Given the description of an element on the screen output the (x, y) to click on. 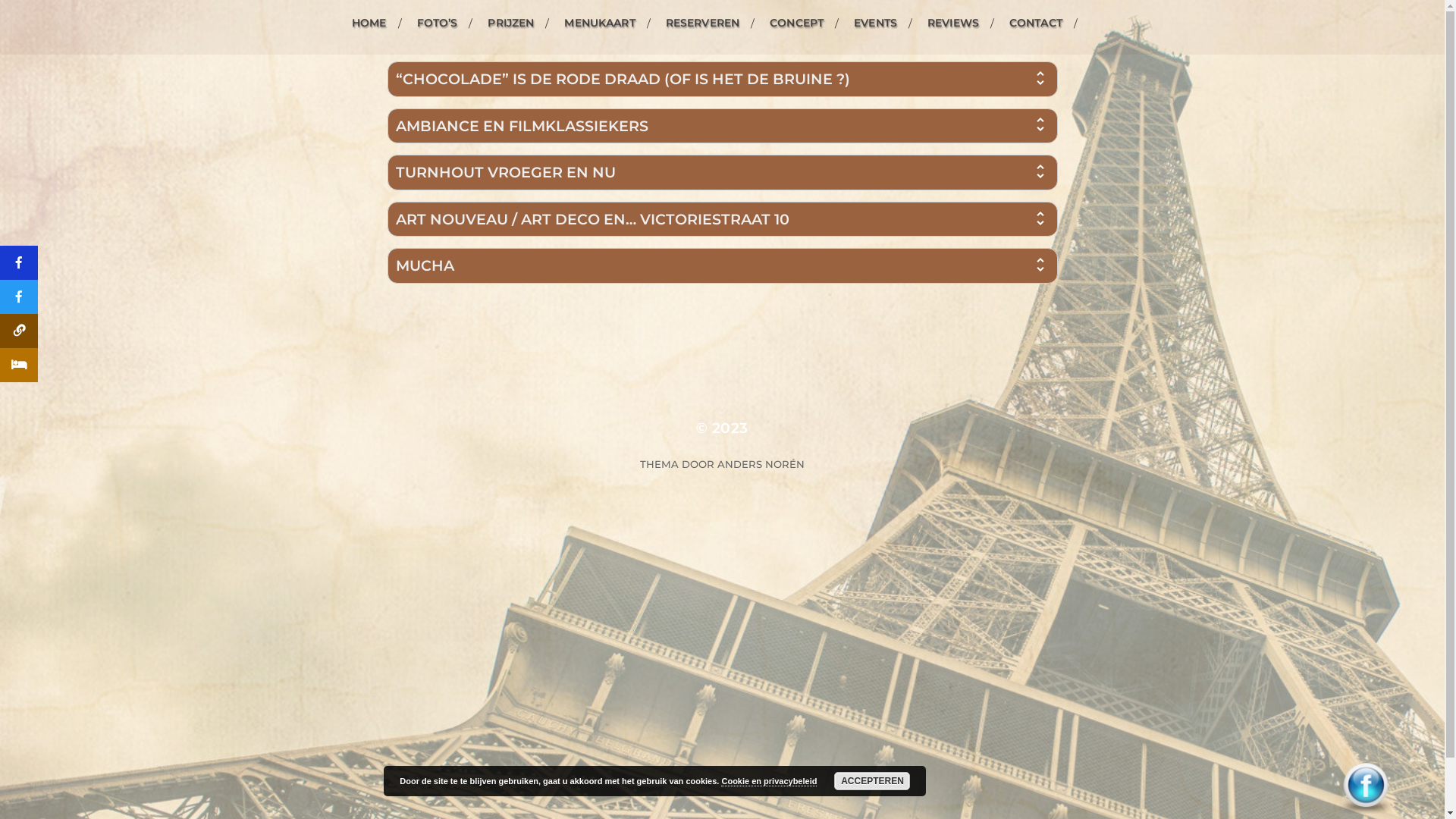
Cookie en privacybeleid Element type: text (768, 781)
MENUKAART Element type: text (599, 22)
CONTACT Element type: text (1035, 22)
RESERVEREN Element type: text (702, 22)
PRIJZEN Element type: text (510, 22)
EVENTS Element type: text (875, 22)
HOME Element type: text (368, 22)
CONCEPT Element type: text (796, 22)
Privacybeleid Element type: text (721, 511)
REVIEWS Element type: text (953, 22)
ACCEPTEREN Element type: text (872, 780)
